Given the description of an element on the screen output the (x, y) to click on. 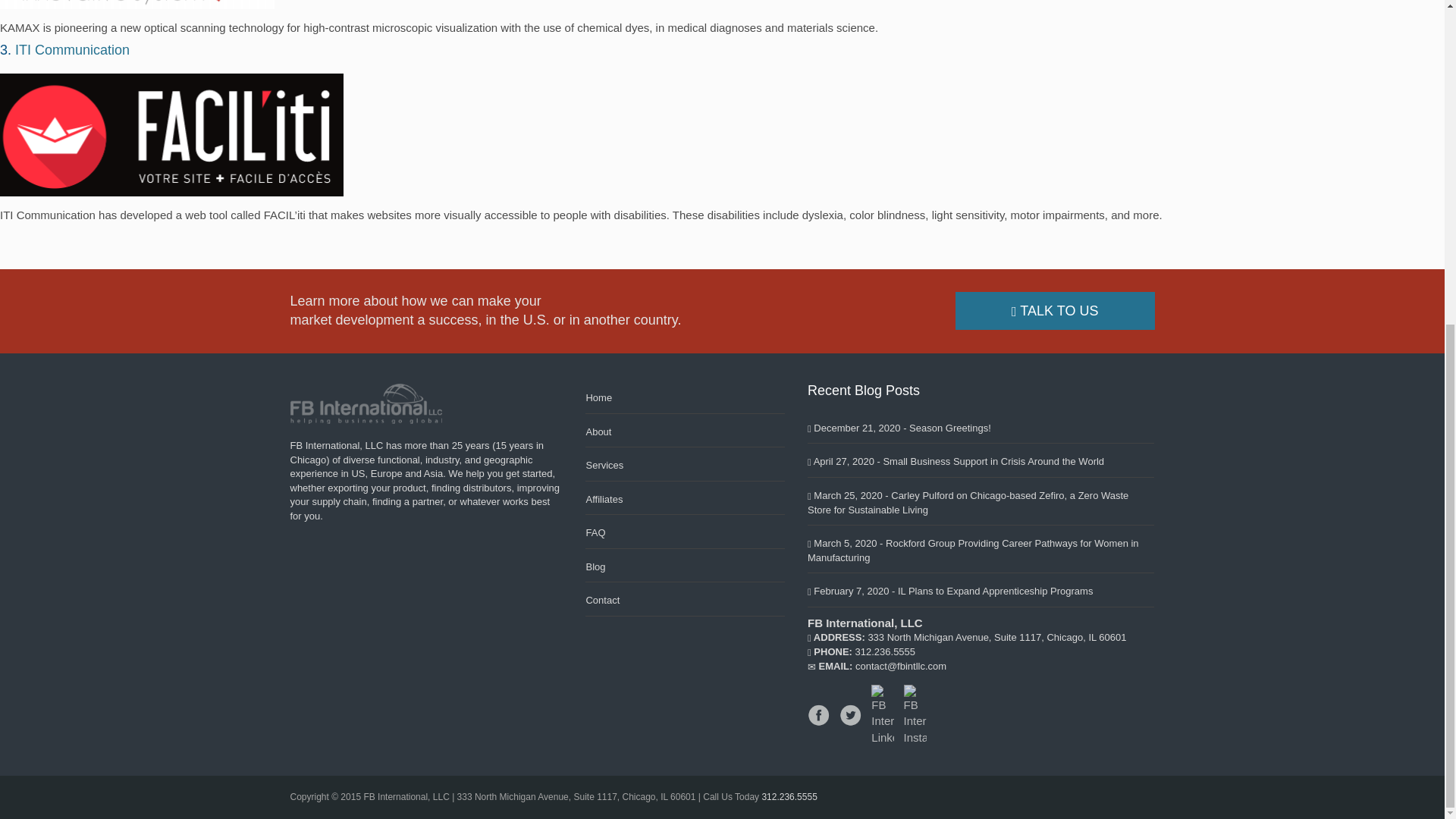
undefined (71, 49)
